Given the description of an element on the screen output the (x, y) to click on. 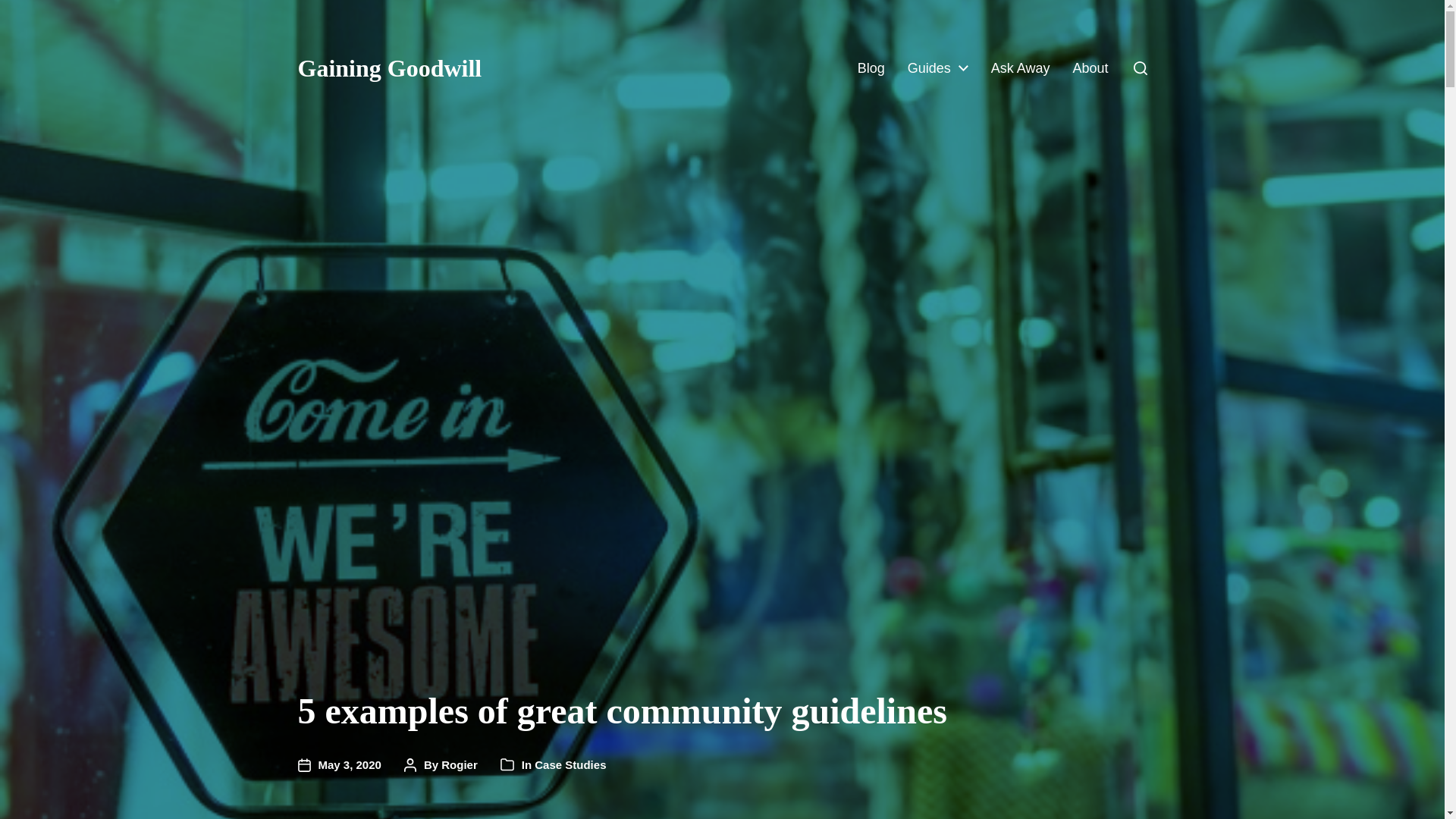
Gaining Goodwill (389, 68)
Rogier (459, 764)
Ask Away (1020, 68)
Blog (871, 68)
Guides (928, 68)
May 3, 2020 (338, 764)
About (1089, 68)
Case Studies (569, 764)
